Given the description of an element on the screen output the (x, y) to click on. 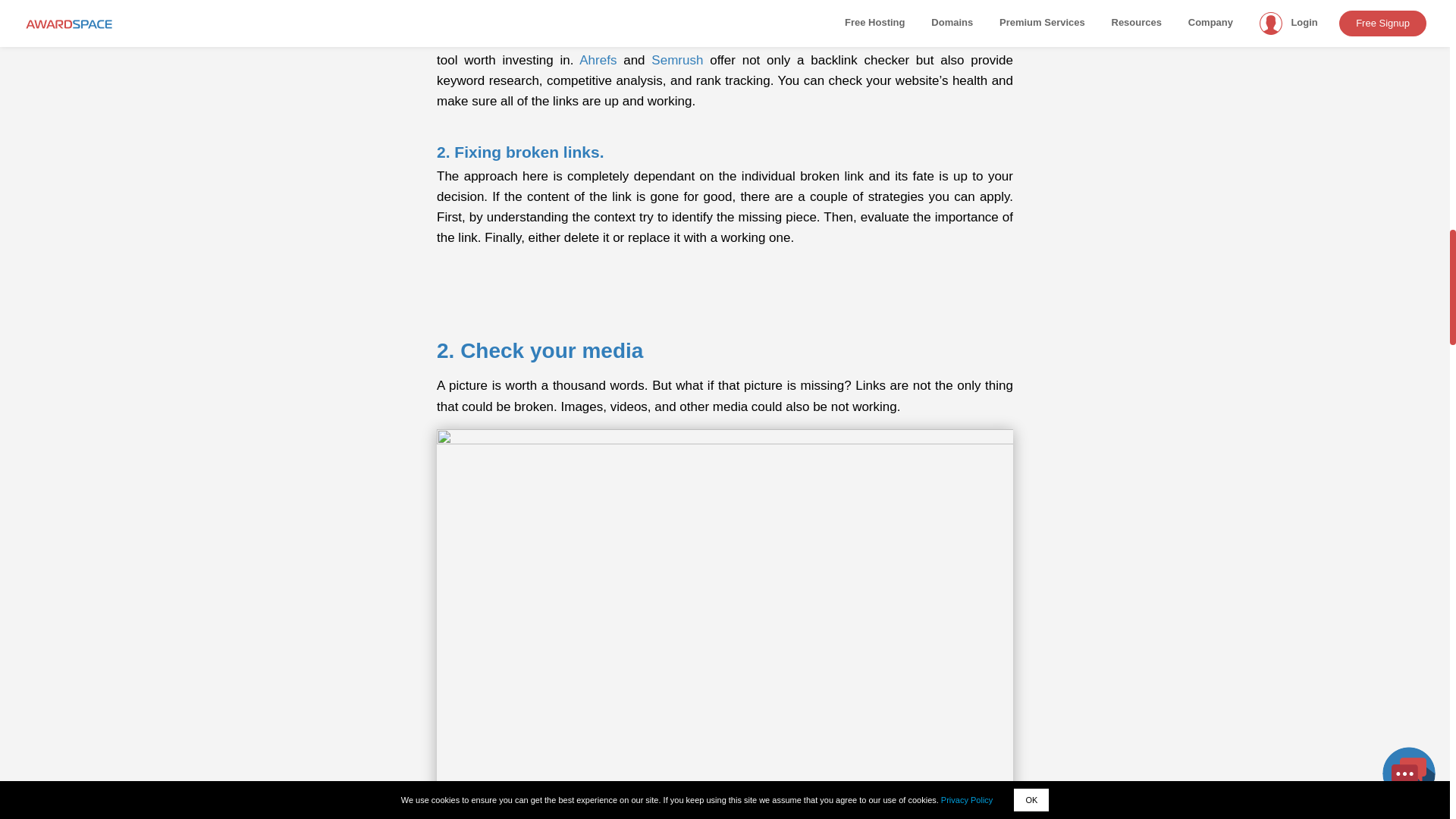
Check My Links (542, 39)
Semrush (676, 60)
Ahrefs (597, 60)
